Given the description of an element on the screen output the (x, y) to click on. 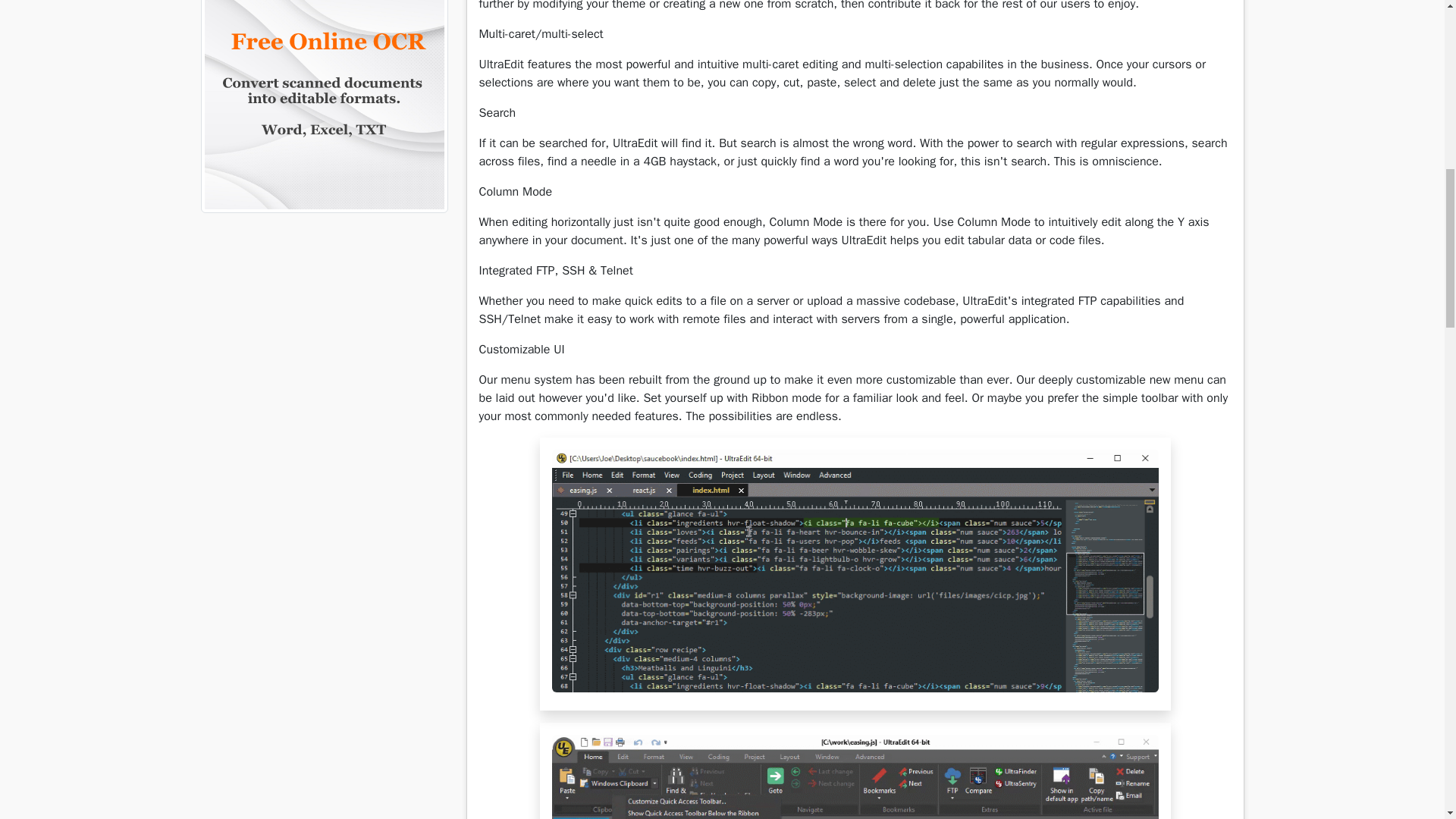
Free Online OCR Converter (323, 88)
